Given the description of an element on the screen output the (x, y) to click on. 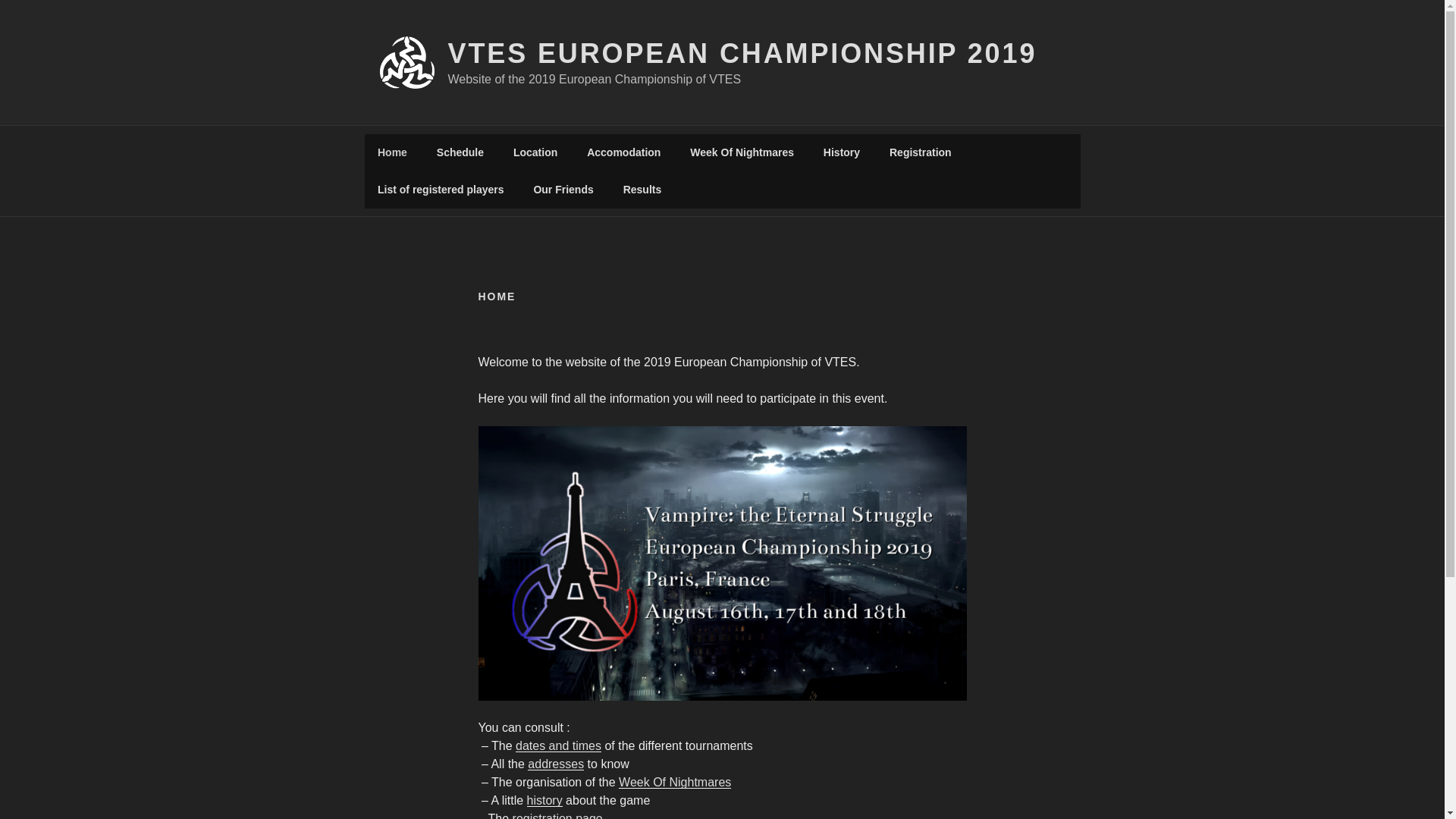
List of registered players (440, 189)
Schedule (459, 151)
history (544, 799)
Home (392, 151)
Location (534, 151)
Week Of Nightmares (742, 151)
History (840, 151)
VTES EUROPEAN CHAMPIONSHIP 2019 (741, 52)
registration page (557, 815)
addresses (555, 763)
Accomodation (623, 151)
Week Of Nightmares (674, 781)
Results (642, 189)
Our Friends (563, 189)
Registration (919, 151)
